Given the description of an element on the screen output the (x, y) to click on. 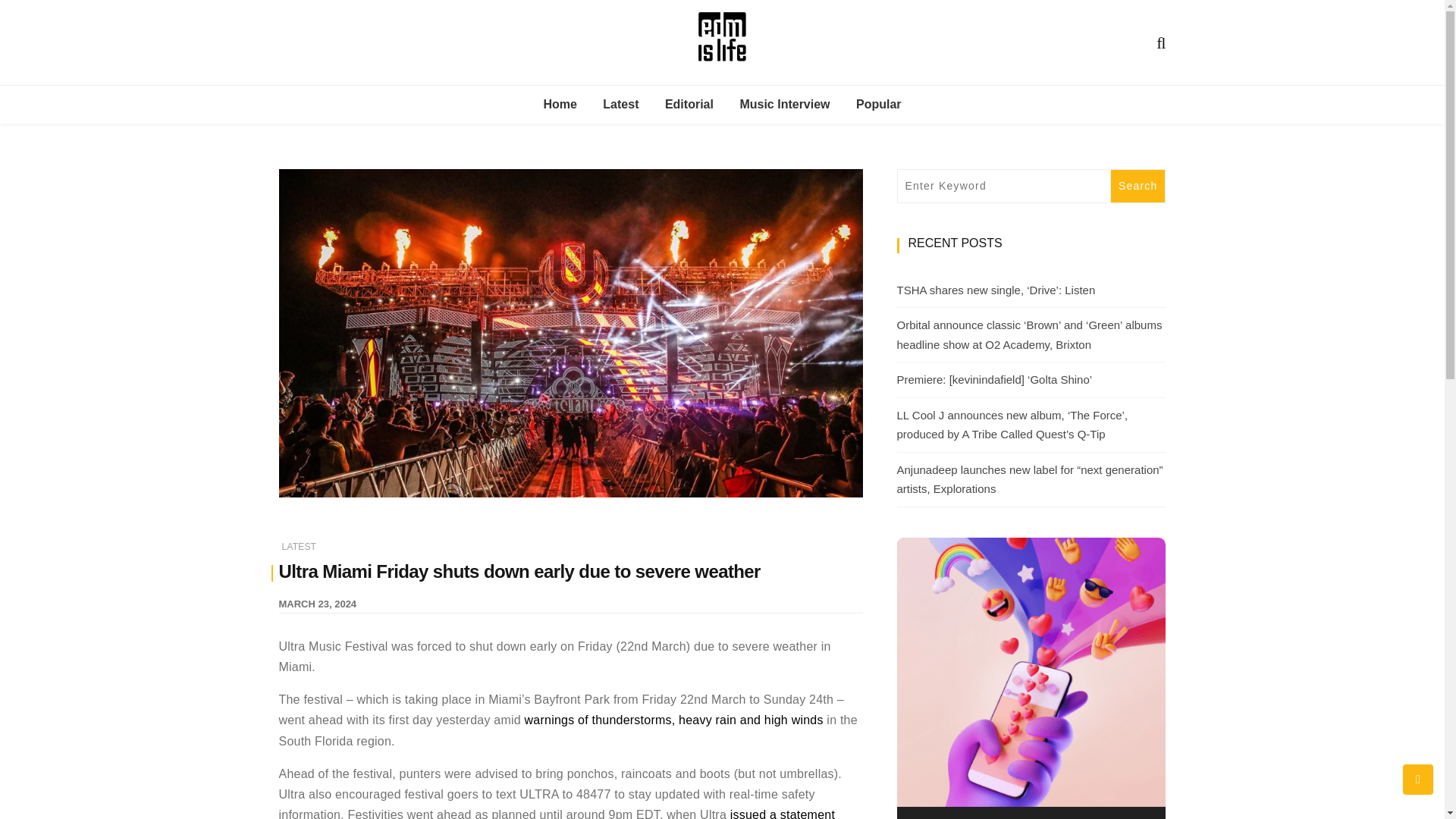
Music Interview (784, 104)
EDM Is Life (797, 104)
warnings of thunderstorms, heavy rain and high winds (674, 719)
Popular (878, 104)
issued a statement (782, 813)
Search (1137, 185)
LATEST (299, 546)
MARCH 23, 2024 (317, 603)
Home (559, 104)
Latest (620, 104)
Editorial (689, 104)
